Given the description of an element on the screen output the (x, y) to click on. 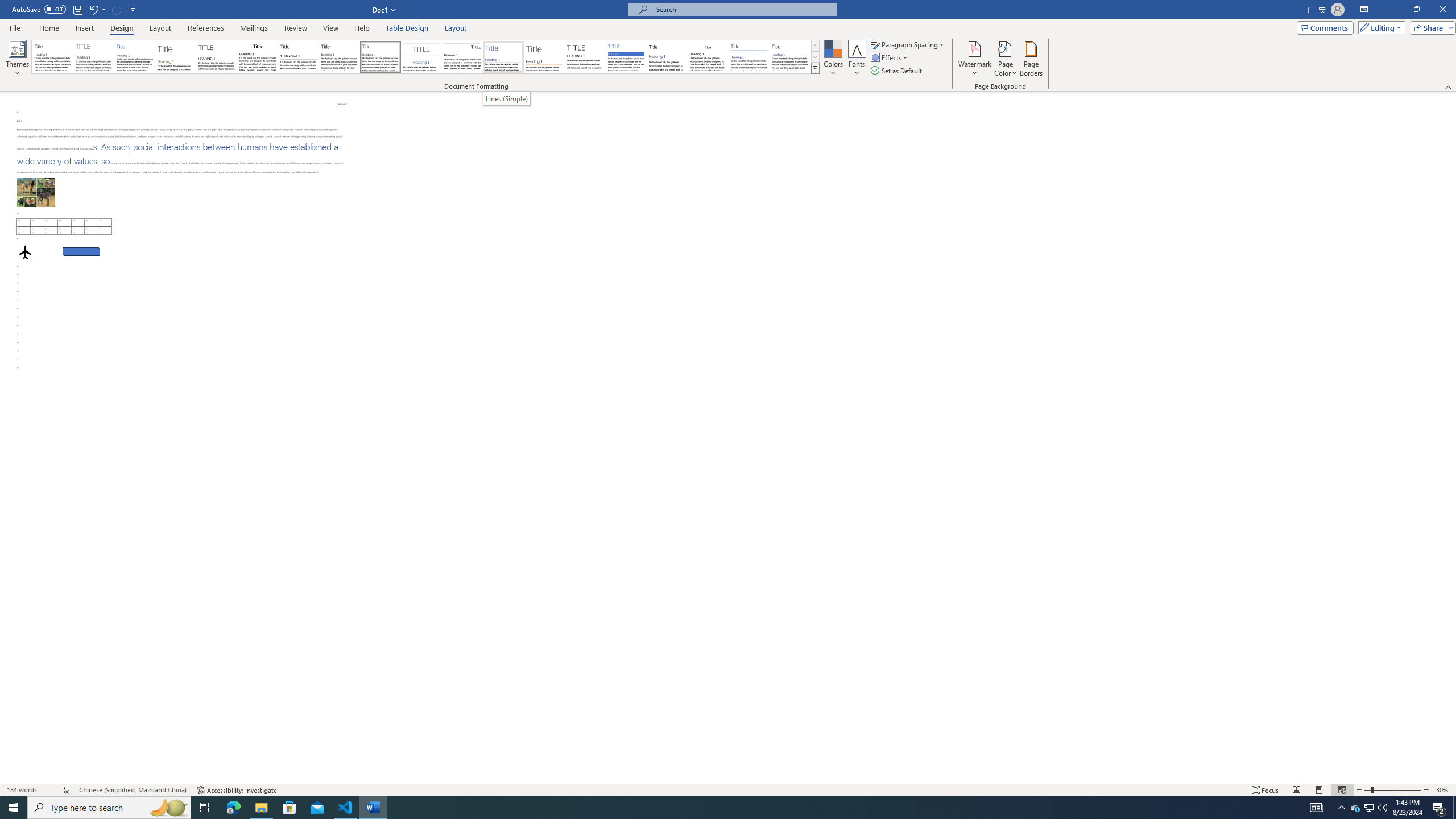
AutomationID: QuickStylesSets (425, 56)
Minimalist (584, 56)
Word 2003 (707, 56)
Black & White (Numbered) (298, 56)
Themes (17, 58)
Paragraph Spacing (908, 44)
